Given the description of an element on the screen output the (x, y) to click on. 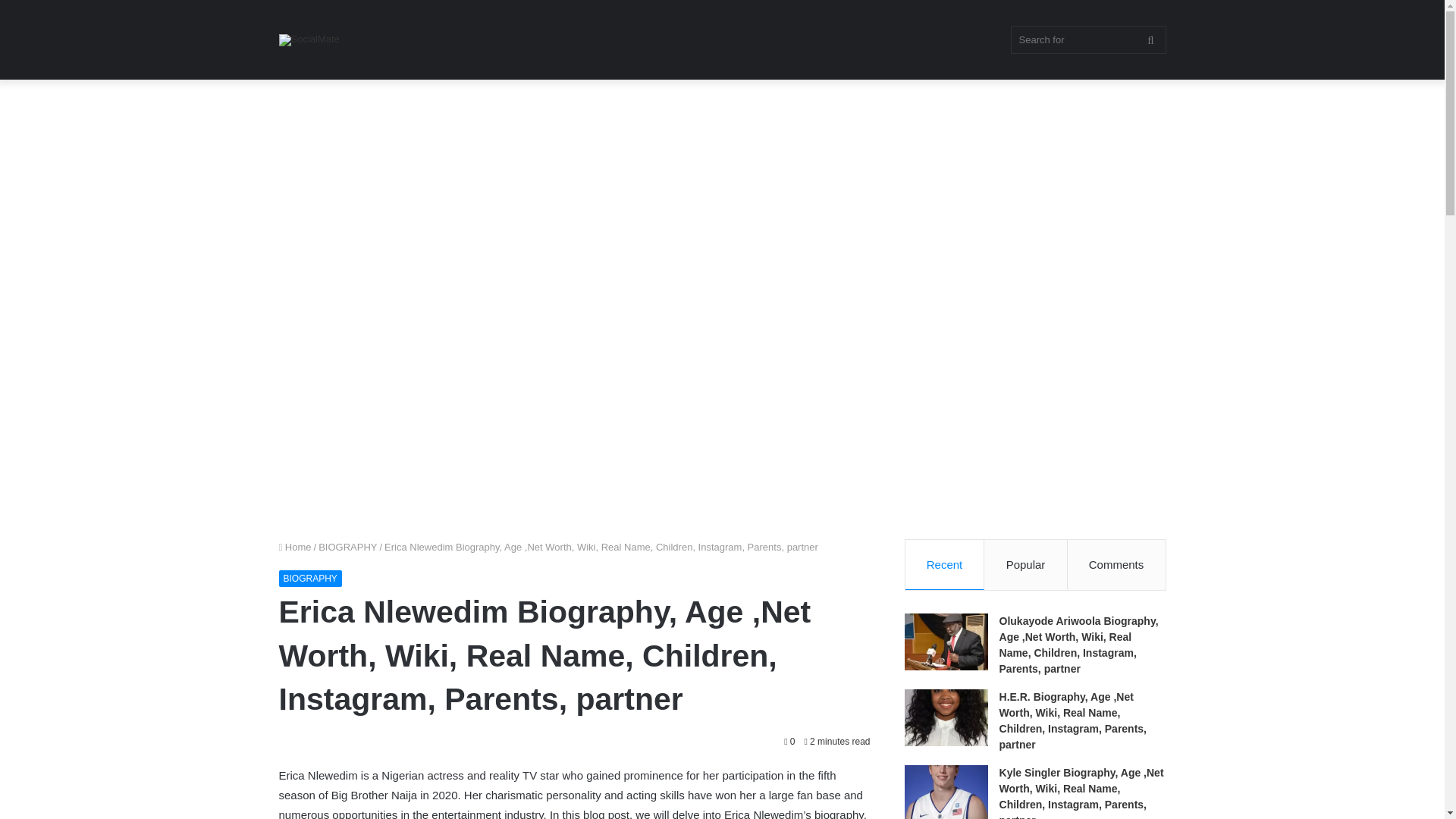
Recent (945, 564)
Popular (1025, 564)
Comments (1116, 564)
Home (295, 546)
SocialMate (309, 39)
BIOGRAPHY (347, 546)
BIOGRAPHY (310, 578)
Search for (1088, 39)
